Given the description of an element on the screen output the (x, y) to click on. 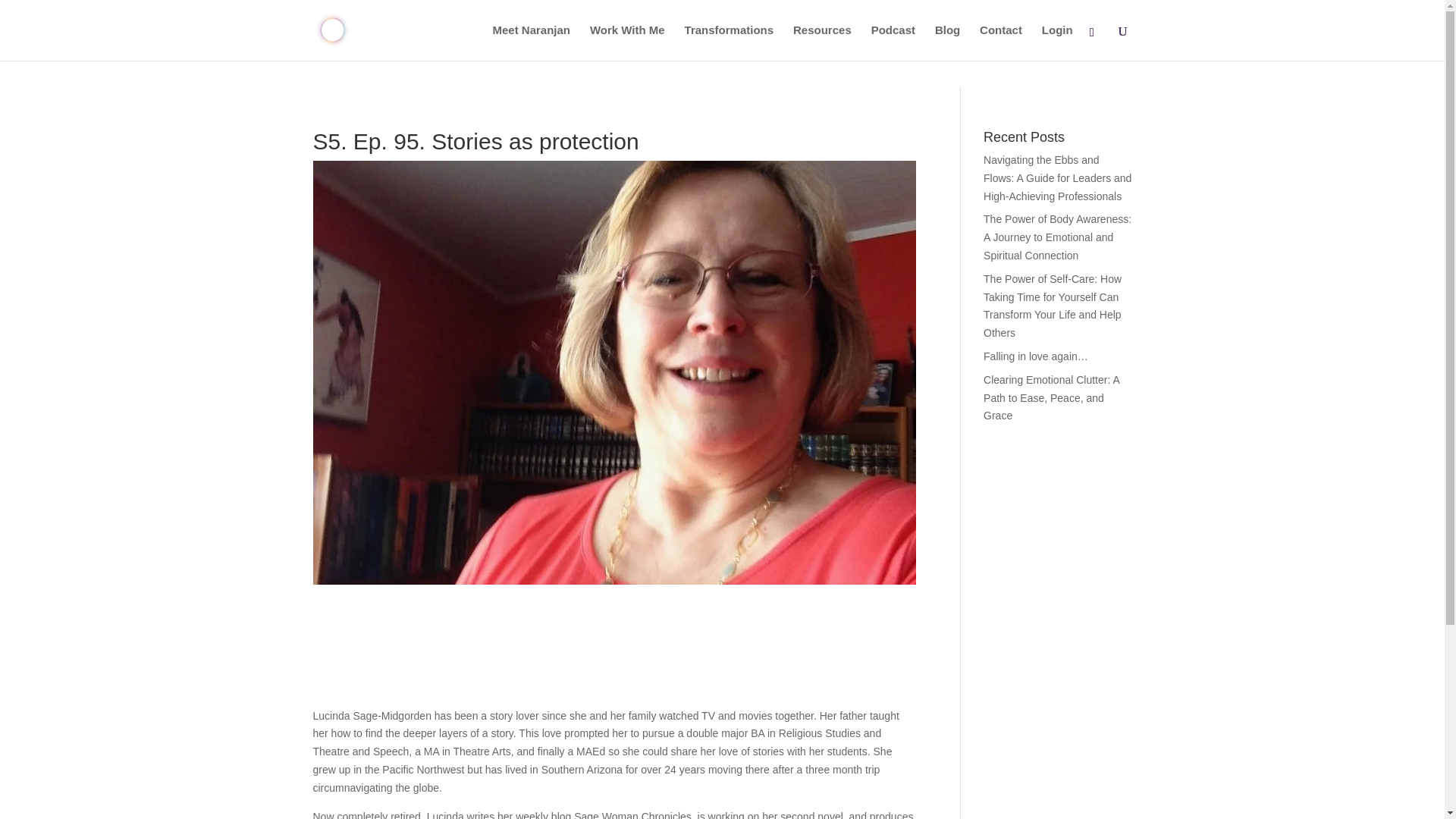
Resources (822, 42)
Work With Me (627, 42)
Meet Naranjan (531, 42)
Podcast (892, 42)
Transformations (729, 42)
Contact (1000, 42)
Clearing Emotional Clutter: A Path to Ease, Peace, and Grace (1051, 397)
